Given the description of an element on the screen output the (x, y) to click on. 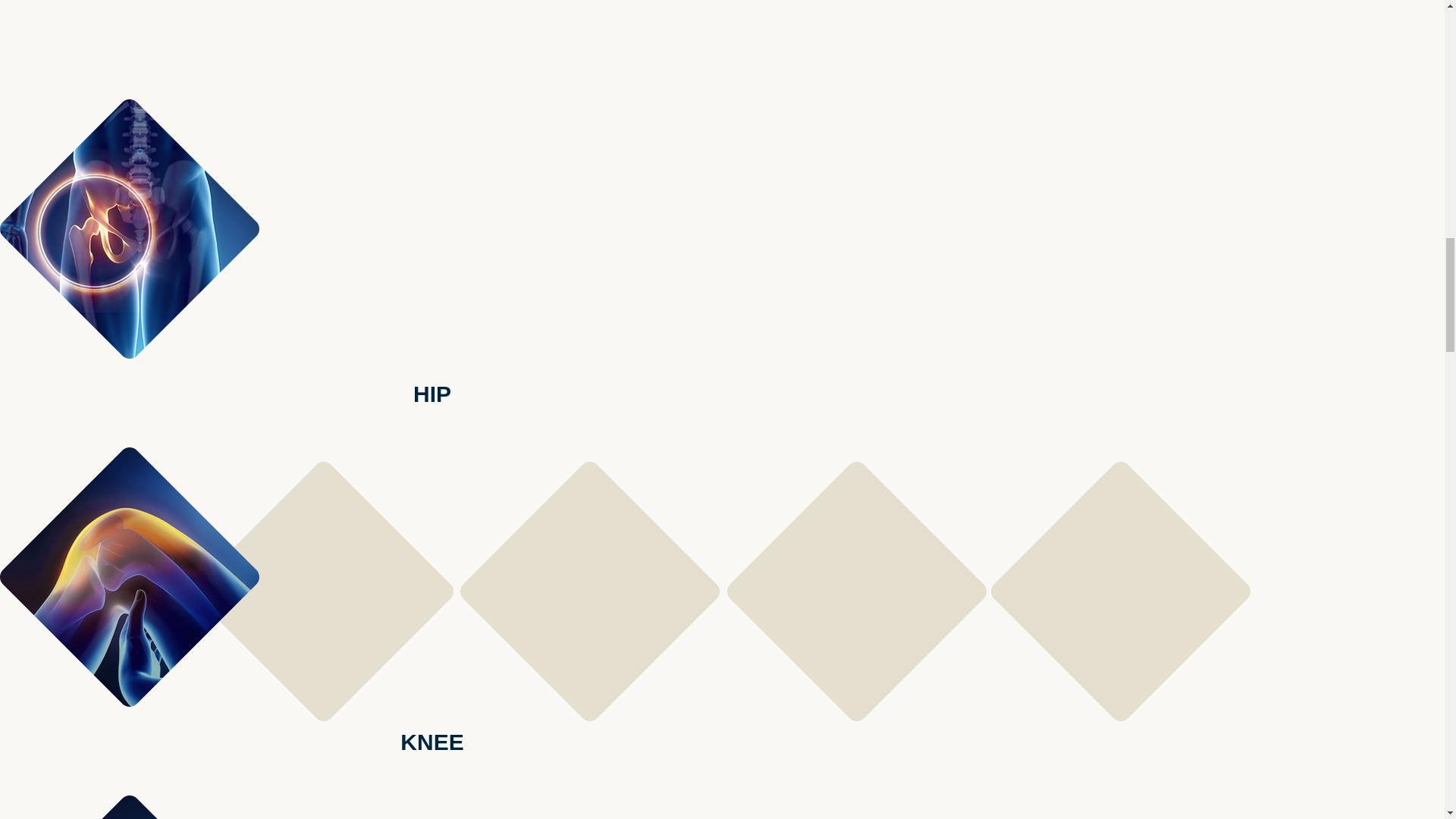
Sholder (129, 789)
